Given the description of an element on the screen output the (x, y) to click on. 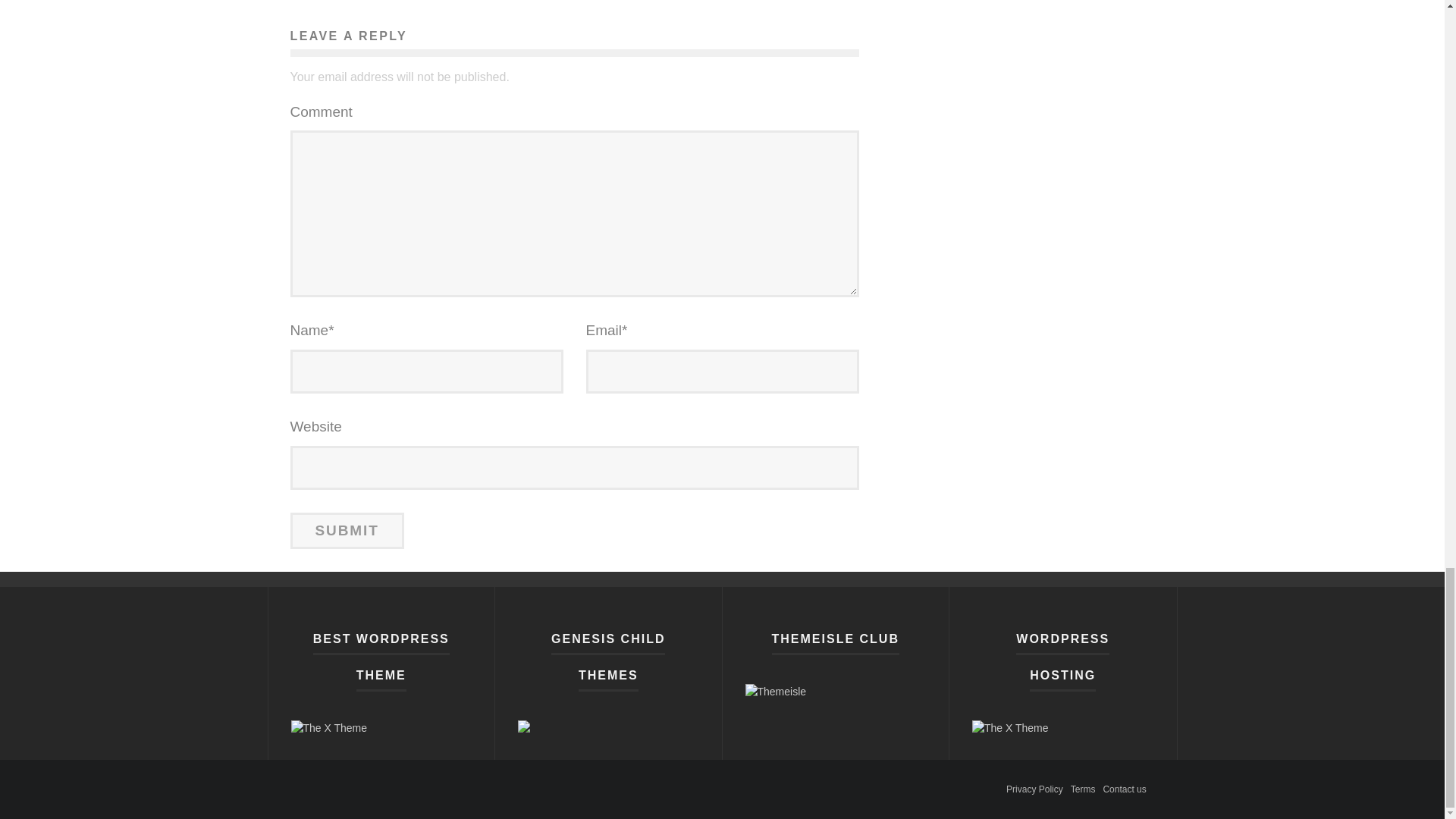
Submit (346, 530)
